Given the description of an element on the screen output the (x, y) to click on. 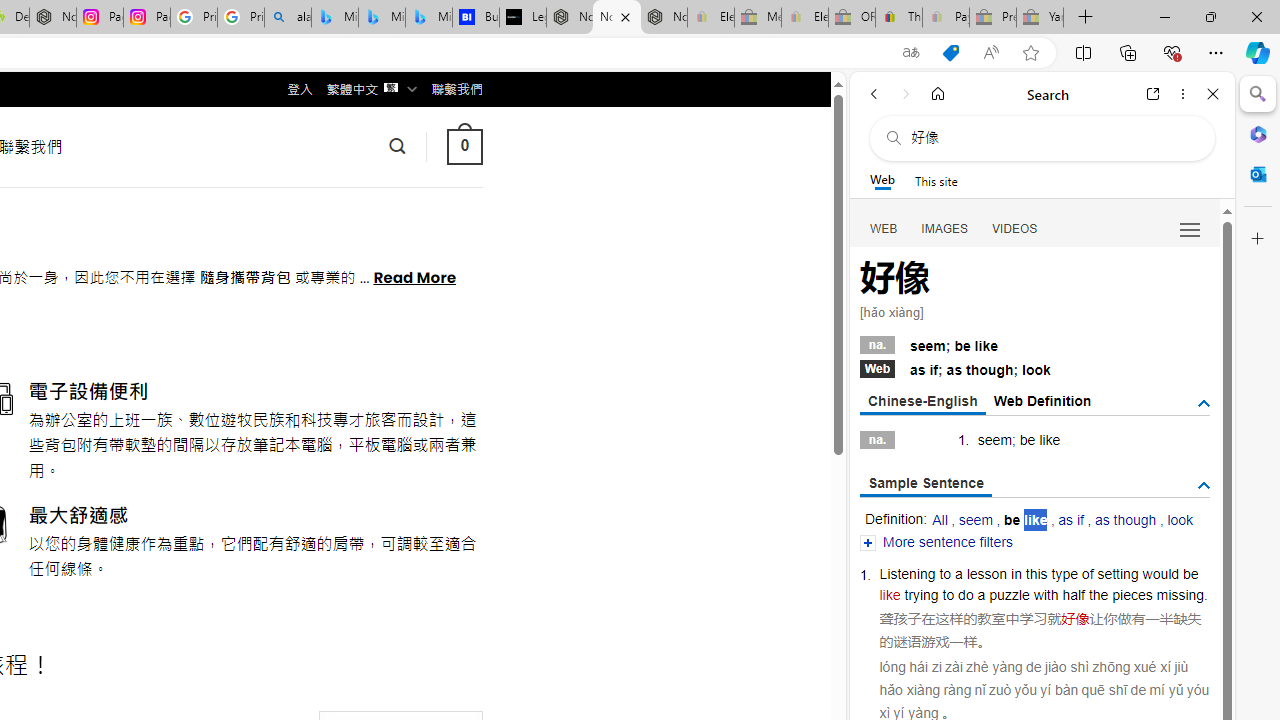
puzzle (1009, 594)
Chinese-English (922, 402)
alabama high school quarterback dies - Search (288, 17)
. (1206, 594)
This site has coupons! Shopping in Microsoft Edge (950, 53)
look (1179, 520)
seem (975, 520)
  0   (464, 146)
